Given the description of an element on the screen output the (x, y) to click on. 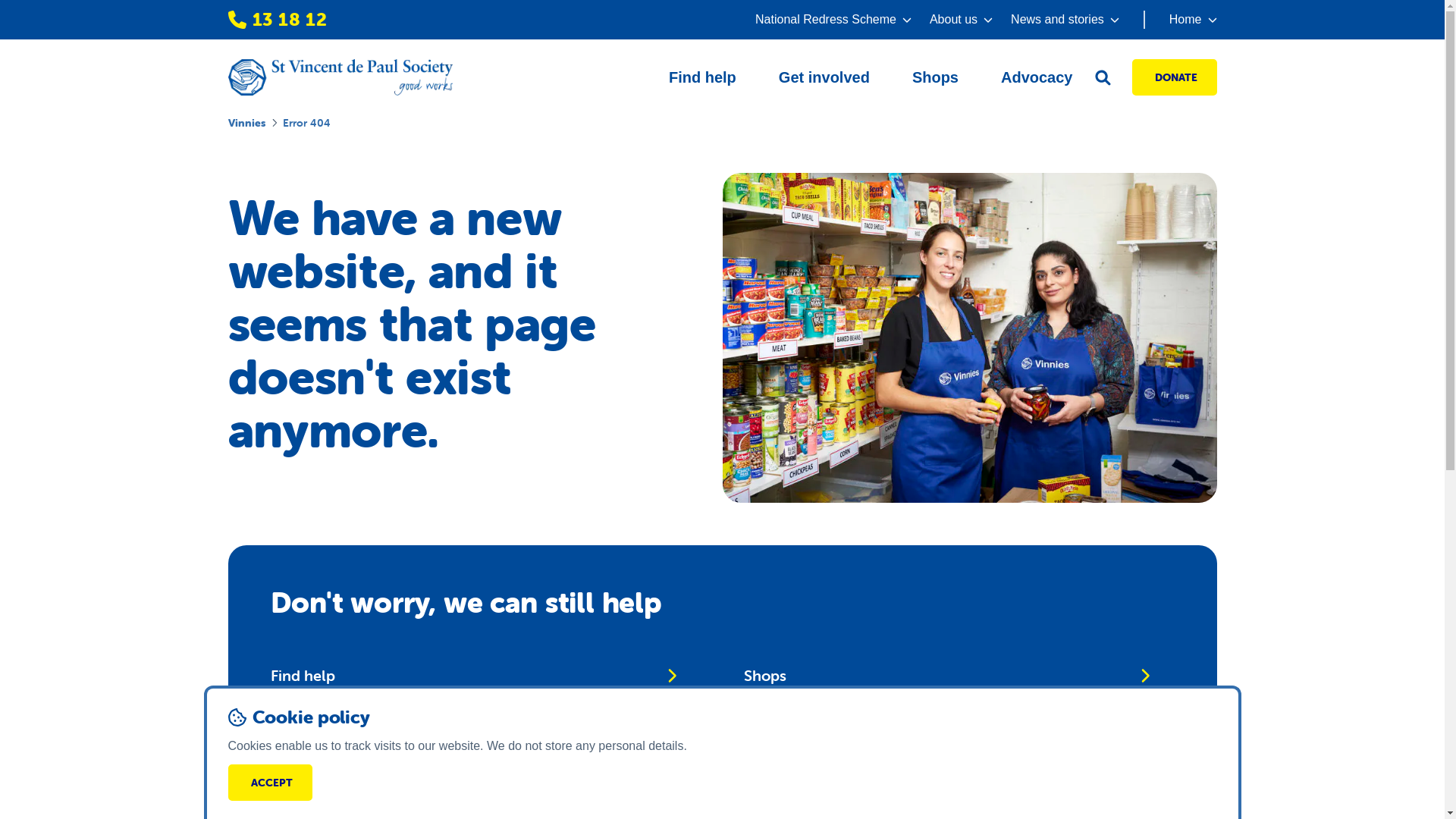
13 18 12 Element type: text (276, 19)
Home Element type: text (1180, 19)
National Redress Scheme Element type: text (833, 19)
Shops Element type: text (935, 76)
DONATE Element type: text (1173, 77)
Vinnies Element type: text (245, 122)
Services Element type: text (472, 725)
Shops Element type: text (946, 675)
About us Element type: text (960, 19)
News and stories Element type: text (1064, 19)
Advocacy Element type: text (946, 725)
ACCEPT Element type: text (269, 782)
Contact us Element type: text (946, 775)
Find help Element type: text (702, 76)
Get involved Element type: text (823, 76)
Advocacy Element type: text (1037, 76)
Search Element type: text (472, 775)
Find help Element type: text (472, 675)
